Given the description of an element on the screen output the (x, y) to click on. 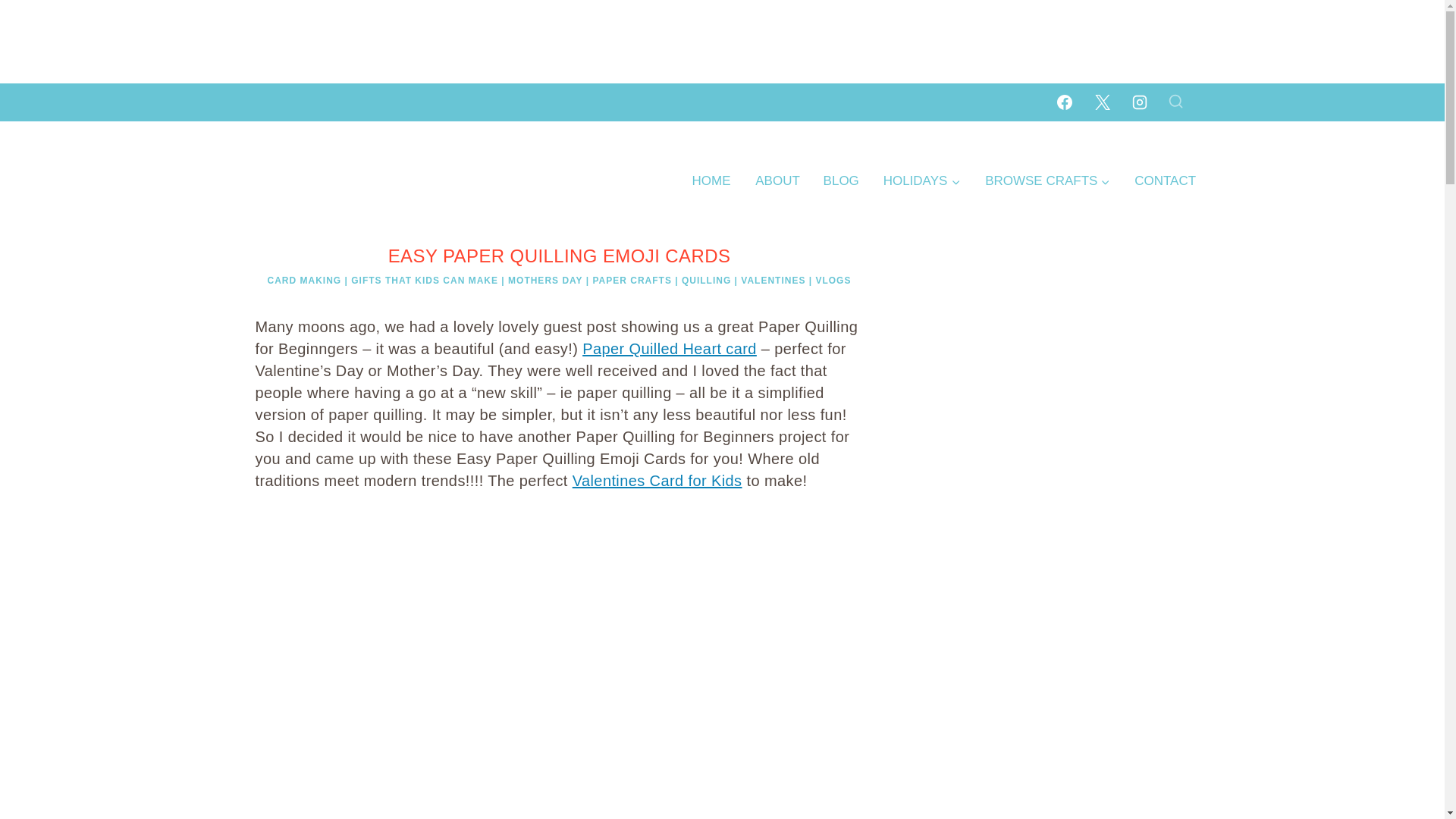
BLOG (840, 180)
ABOUT (776, 180)
BROWSE CRAFTS (1047, 180)
CONTACT (1165, 180)
HOLIDAYS (921, 180)
HOME (710, 180)
